Given the description of an element on the screen output the (x, y) to click on. 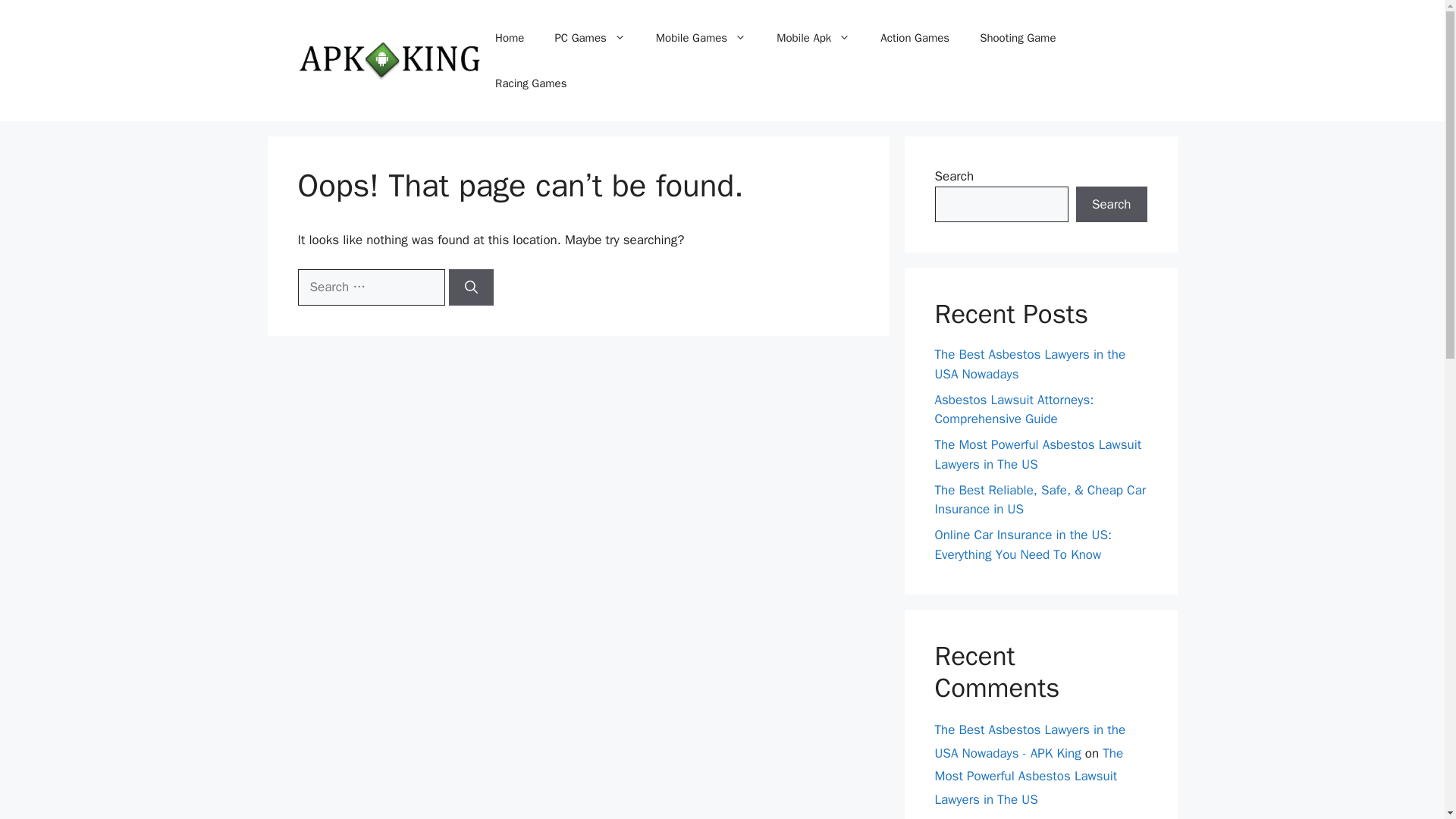
The Best Asbestos Lawyers in the USA Nowadays (1029, 364)
Mobile Games (700, 37)
Home (509, 37)
Shooting Game (1016, 37)
PC Games (589, 37)
The Best Asbestos Lawyers in the USA Nowadays - APK King (1029, 741)
Mobile Apk (812, 37)
Search (1111, 204)
The Most Powerful Asbestos Lawsuit Lawyers in The US (1028, 776)
Search for: (370, 287)
